Given the description of an element on the screen output the (x, y) to click on. 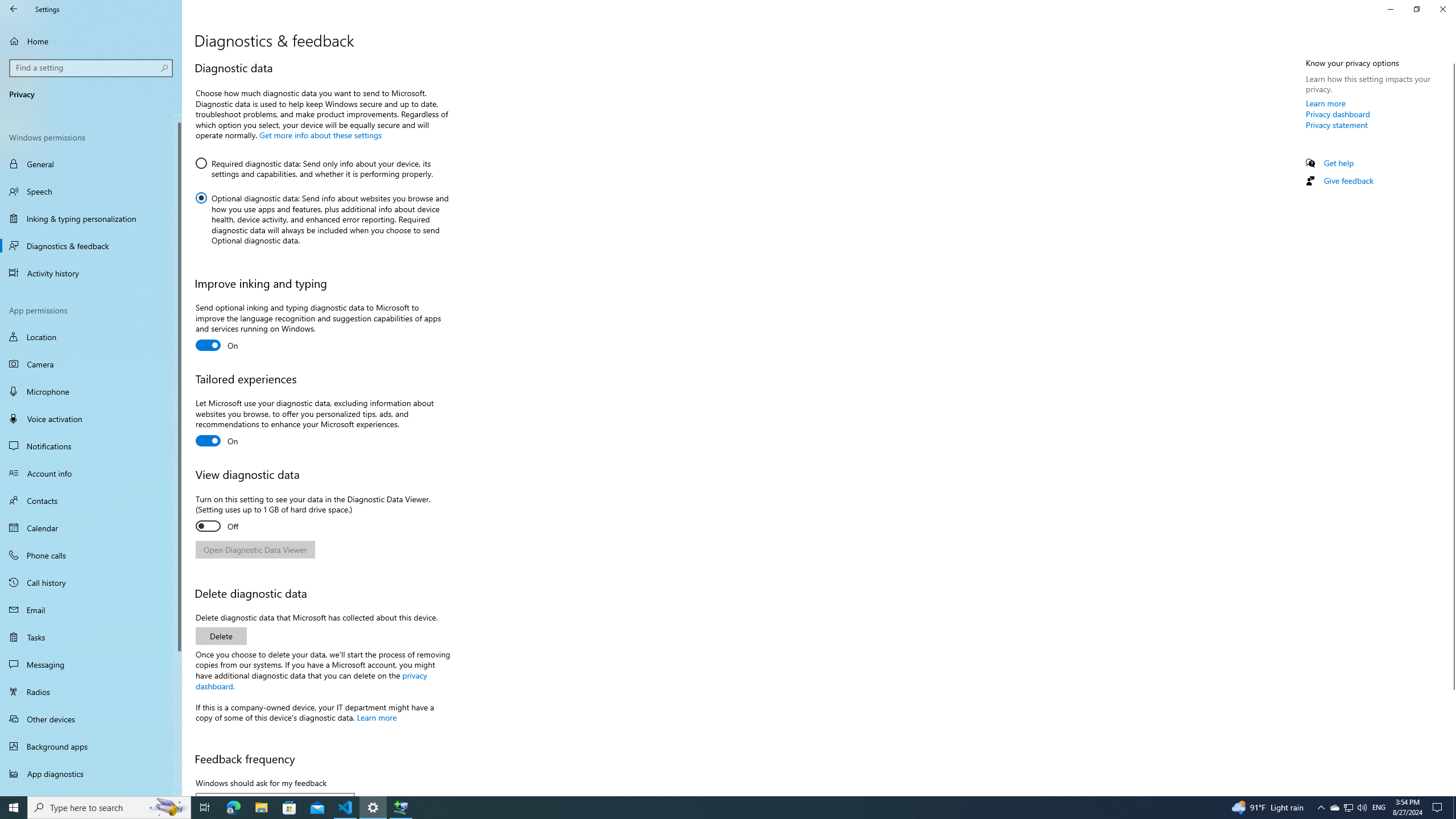
Settings - 1 running window (373, 807)
Extensible Wizards Host Process - 1 running window (400, 807)
Tray Input Indicator - English (United States) (1378, 807)
Vertical Small Decrease (1451, 58)
Close Settings (1442, 9)
Back (1347, 807)
privacy dashboard. (13, 9)
Account info (312, 679)
Vertical (1333, 807)
Messaging (91, 472)
Camera (1451, 425)
